Given the description of an element on the screen output the (x, y) to click on. 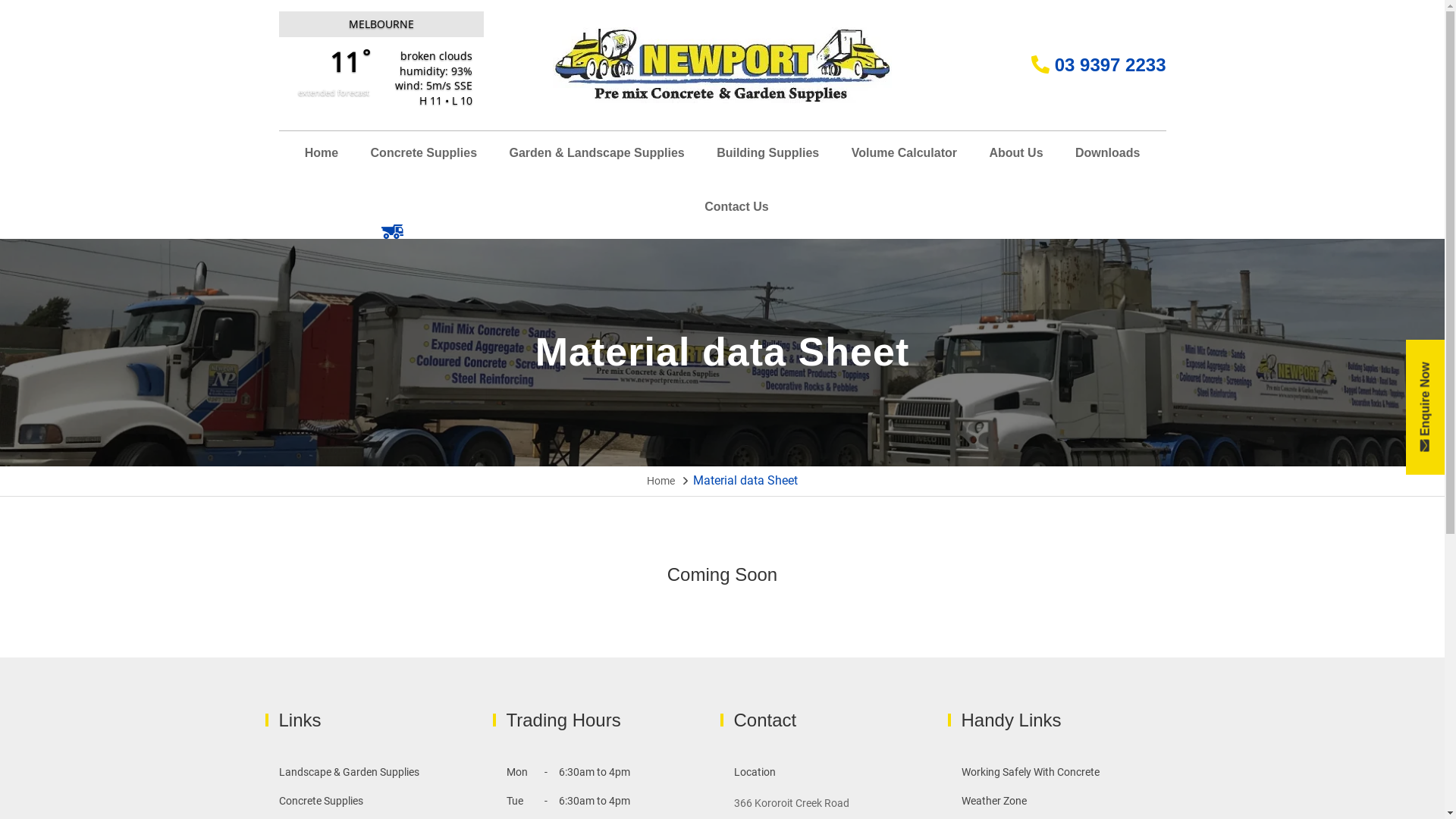
Garden & Landscape Supplies Element type: text (596, 158)
Working Safely With Concrete Element type: text (1030, 771)
Newport Premix Element type: hover (721, 63)
Volume Calculator Element type: text (904, 158)
extended forecast Element type: text (333, 91)
03 9397 2233 Element type: text (1098, 64)
Concrete Supplies Element type: text (321, 800)
Location Element type: text (754, 771)
Home Element type: text (321, 158)
Landscape & Garden Supplies Element type: text (349, 771)
Home Element type: text (660, 480)
Downloads Element type: text (1107, 158)
About Us Element type: text (1015, 158)
Concrete Supplies Element type: text (423, 158)
Weather Zone Element type: text (993, 800)
Contact Us Element type: text (736, 211)
Building Supplies Element type: text (767, 158)
